Given the description of an element on the screen output the (x, y) to click on. 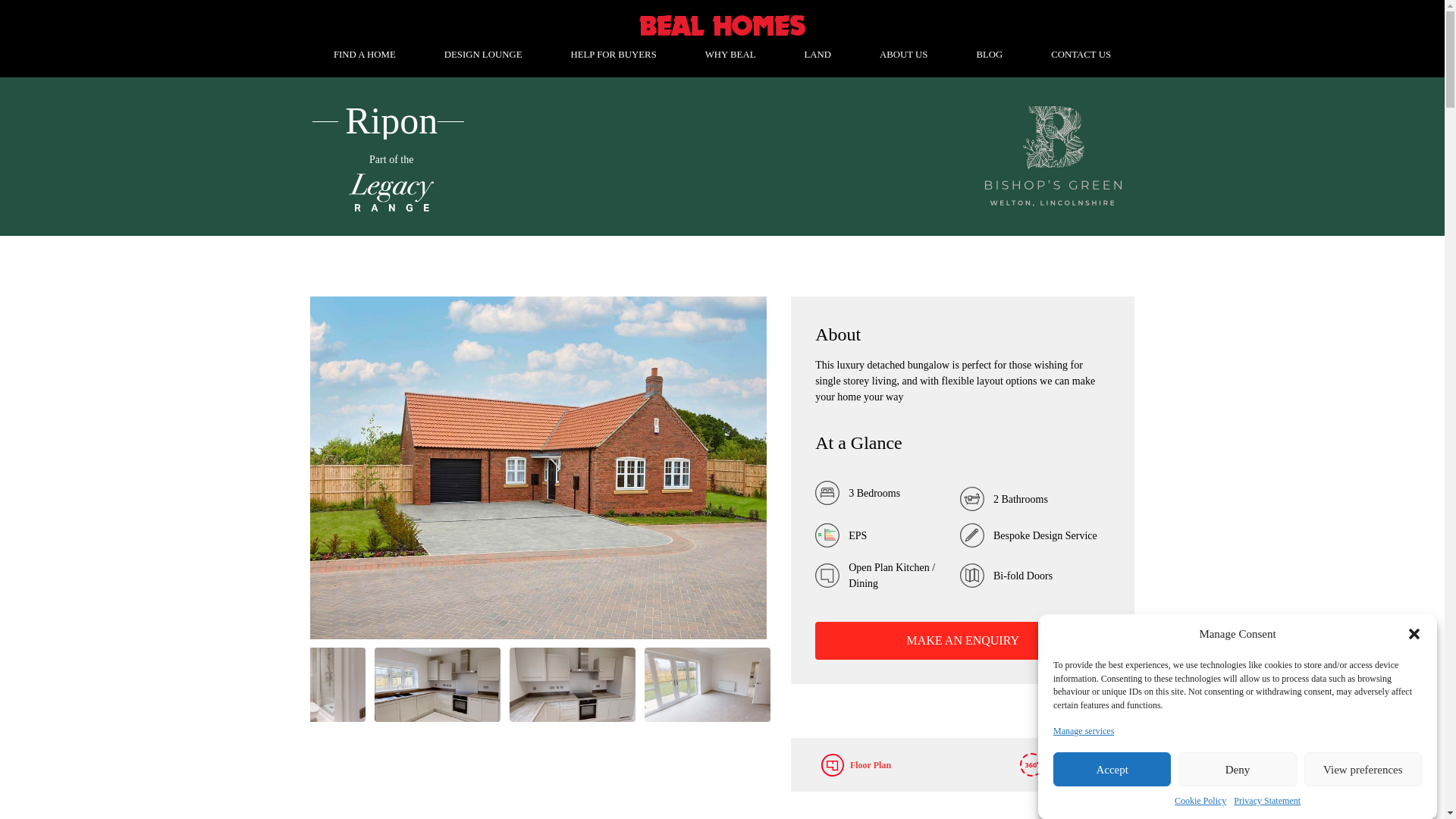
LAND (817, 54)
Manage services (1082, 764)
ABOUT US (903, 54)
FIND A HOME (364, 54)
DESIGN LOUNGE (483, 54)
Accept (1111, 785)
Deny (1236, 781)
HELP FOR BUYERS (613, 54)
Privacy Statement (1266, 801)
Cookie Policy (1199, 802)
WHY BEAL (729, 54)
View preferences (1363, 777)
